Given the description of an element on the screen output the (x, y) to click on. 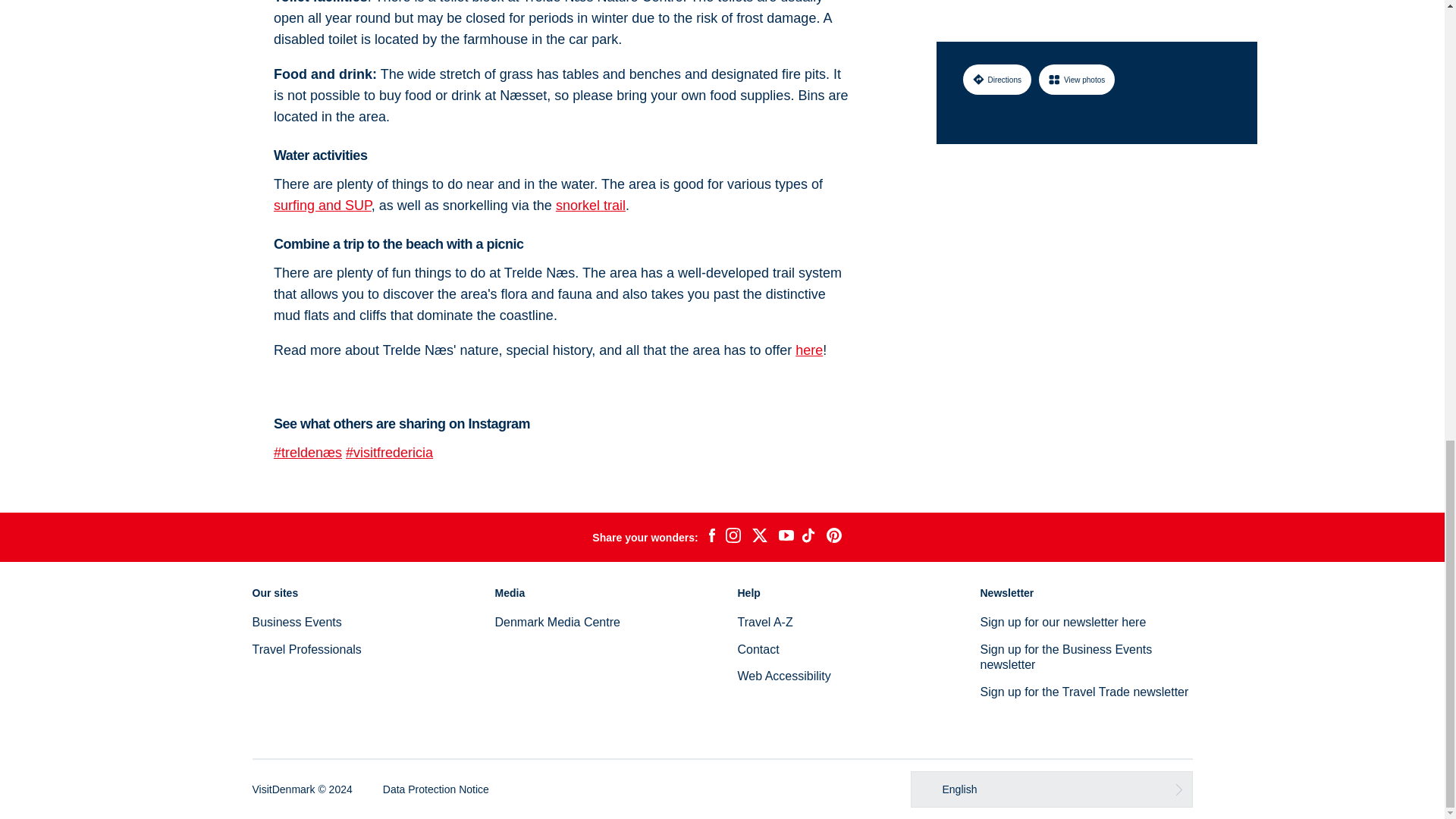
Sign up for the Travel Trade newsletter (1083, 691)
Sign up for our newsletter here (1062, 621)
pinterest (834, 537)
Data Protection Notice (435, 789)
Travel Professionals (306, 649)
Denmark Media Centre (557, 621)
Data Protection Notice (435, 789)
Web Accessibility (782, 675)
Business Events (295, 621)
Sign up for our newsletter here (1062, 621)
Business Events (295, 621)
here (808, 350)
snorkel trail (591, 205)
Sign up for the Business Events newsletter (1065, 656)
Sign up for the Travel Trade newsletter (1083, 691)
